Given the description of an element on the screen output the (x, y) to click on. 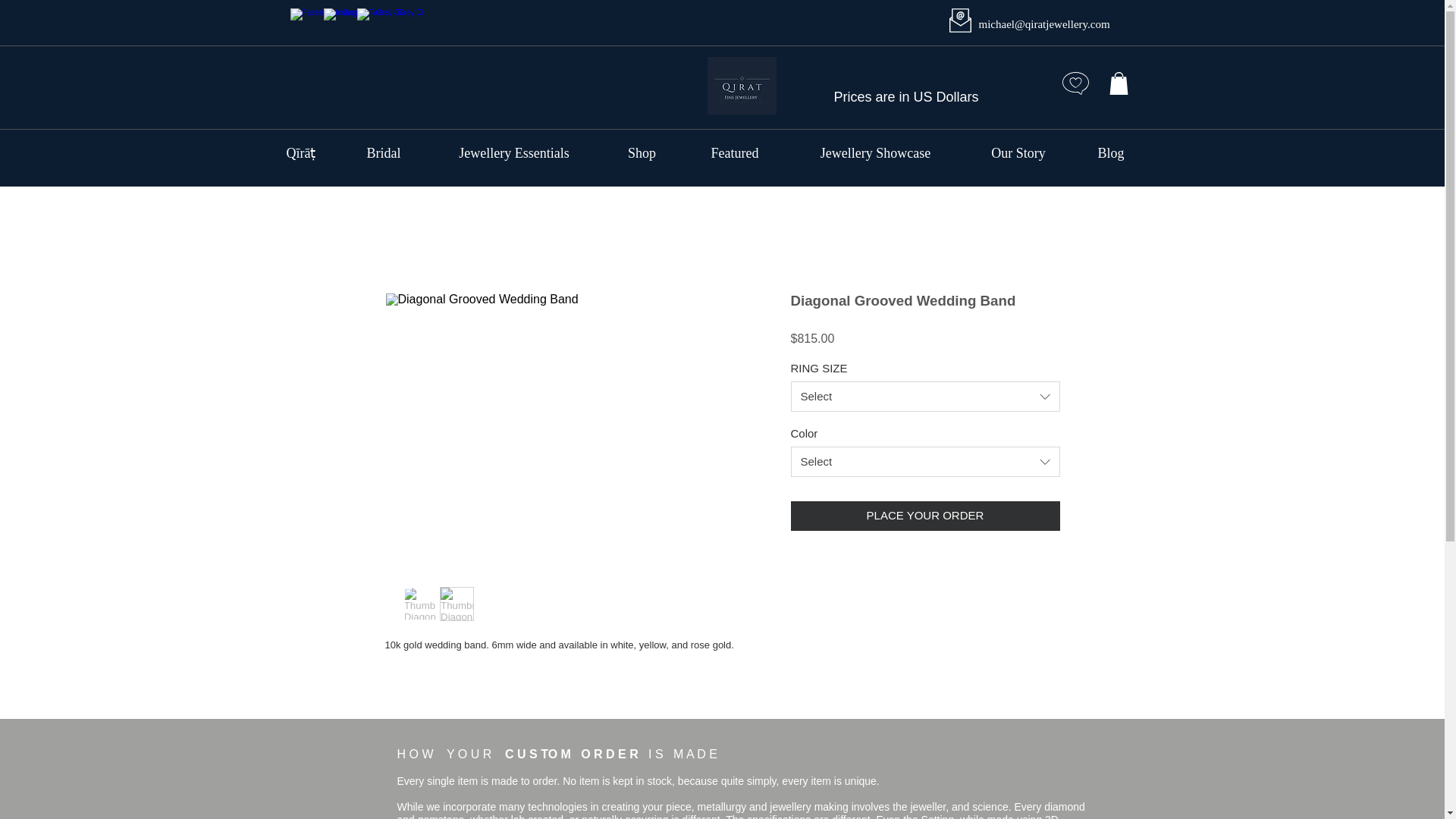
Jewellery Showcase (874, 153)
Featured (734, 153)
Jewellery Essentials (513, 153)
Shop (642, 153)
Select (924, 396)
Blog (1111, 153)
Our Story (1017, 153)
Select (924, 461)
PLACE YOUR ORDER (924, 515)
Bridal (383, 153)
